Given the description of an element on the screen output the (x, y) to click on. 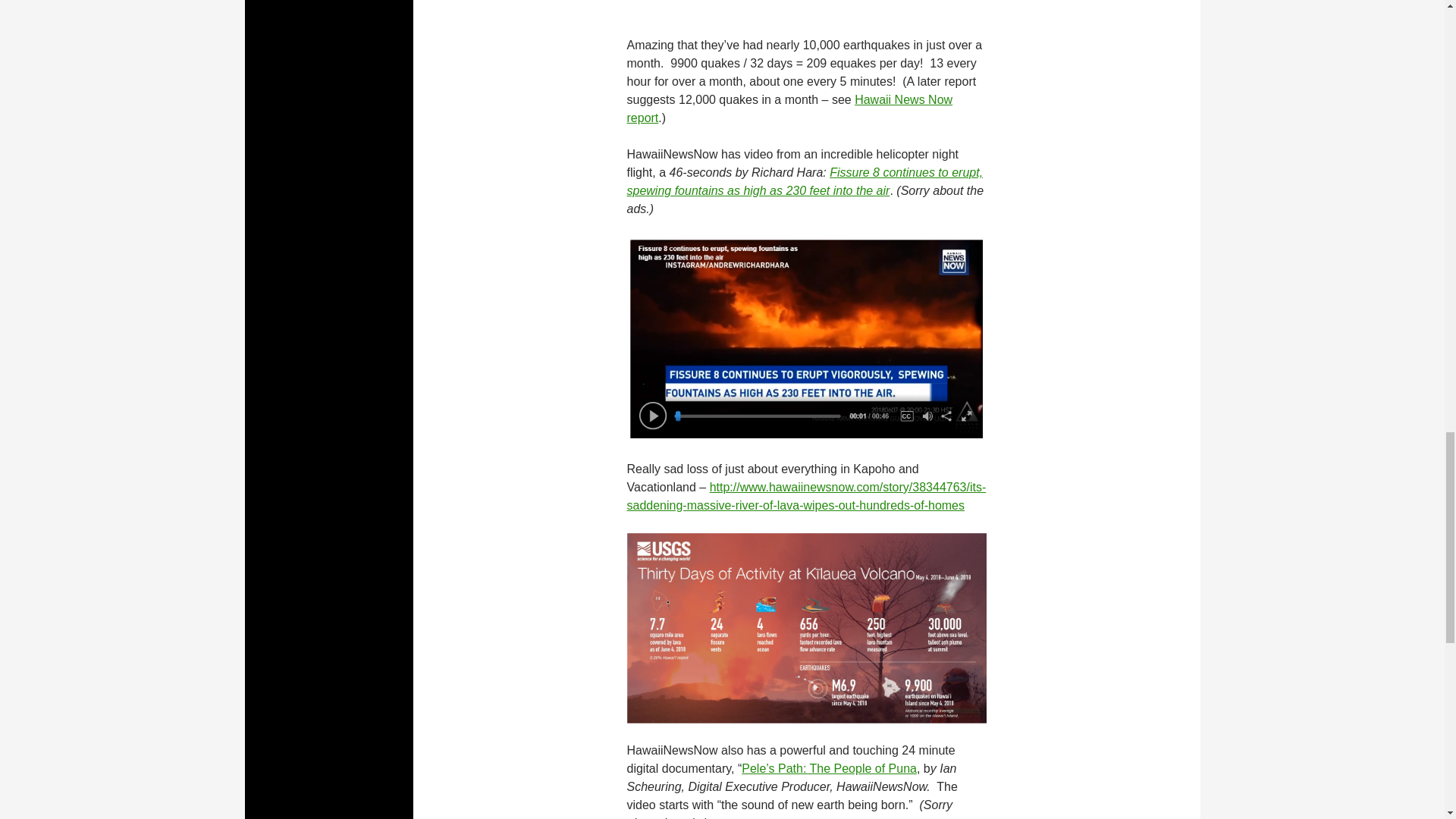
Hawaii News Now report (789, 108)
